Given the description of an element on the screen output the (x, y) to click on. 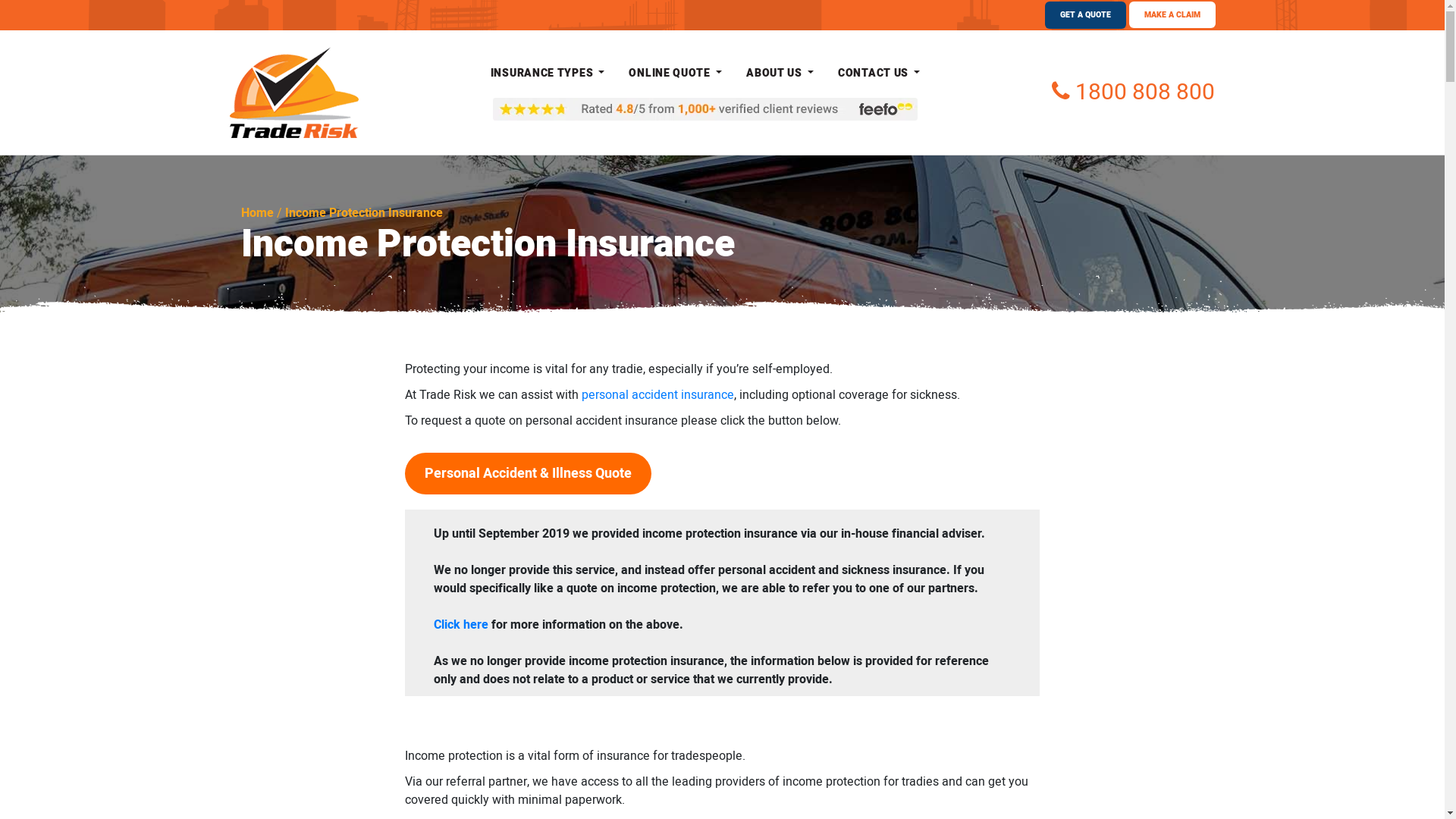
ONLINE QUOTE Element type: text (675, 73)
Click here Element type: text (460, 624)
Home Element type: text (257, 212)
personal accident insurance Element type: text (657, 394)
Income Protection Insurance Element type: text (363, 212)
Personal Accident & Illness Quote Element type: text (527, 473)
1800 808 800 Element type: text (1132, 92)
GET A QUOTE Element type: text (1085, 14)
MAKE A CLAIM Element type: text (1171, 14)
ABOUT US Element type: text (779, 73)
INSURANCE TYPES Element type: text (547, 73)
CONTACT US Element type: text (878, 73)
